Given the description of an element on the screen output the (x, y) to click on. 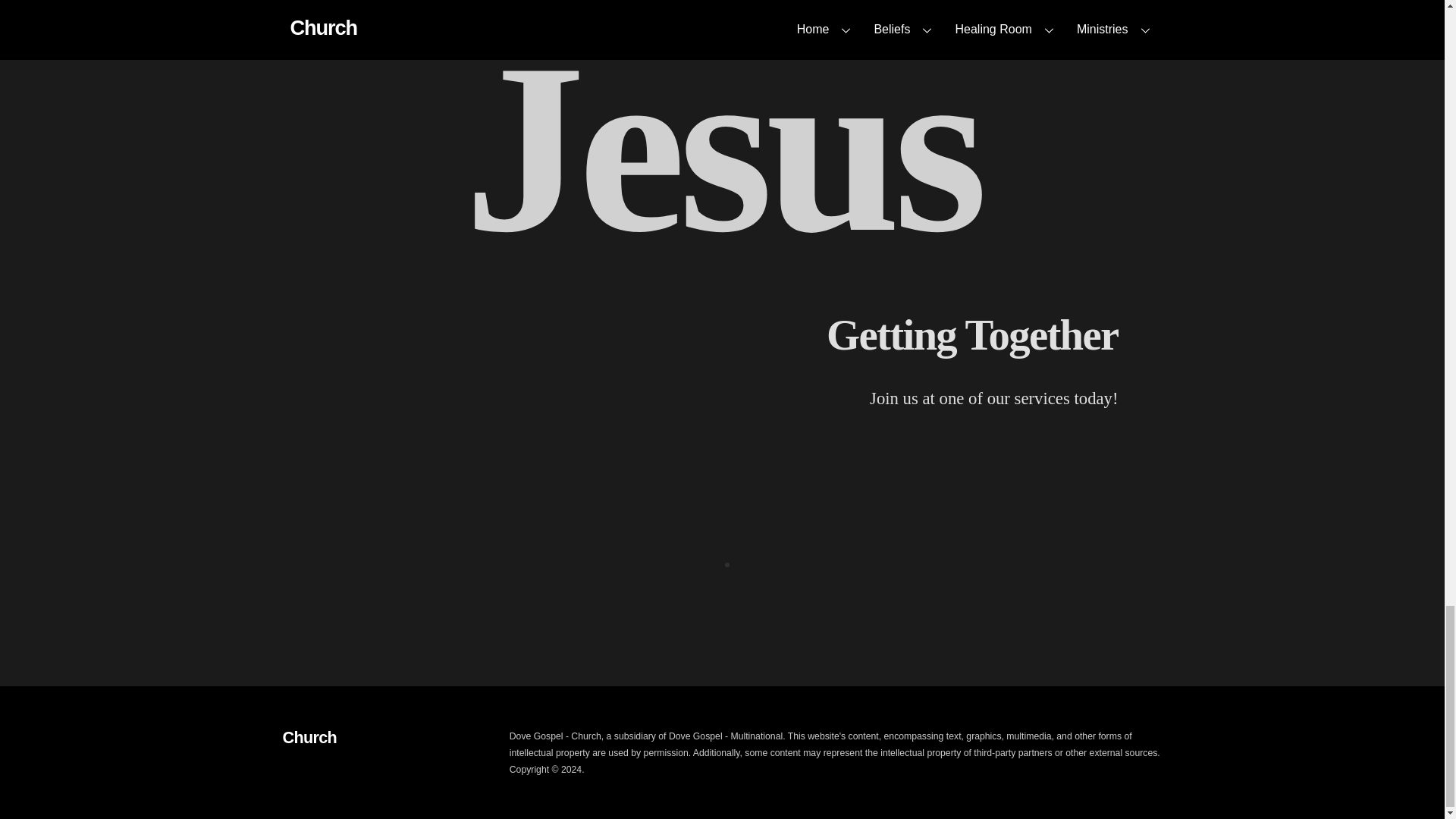
Church (309, 735)
Church (309, 735)
